Given the description of an element on the screen output the (x, y) to click on. 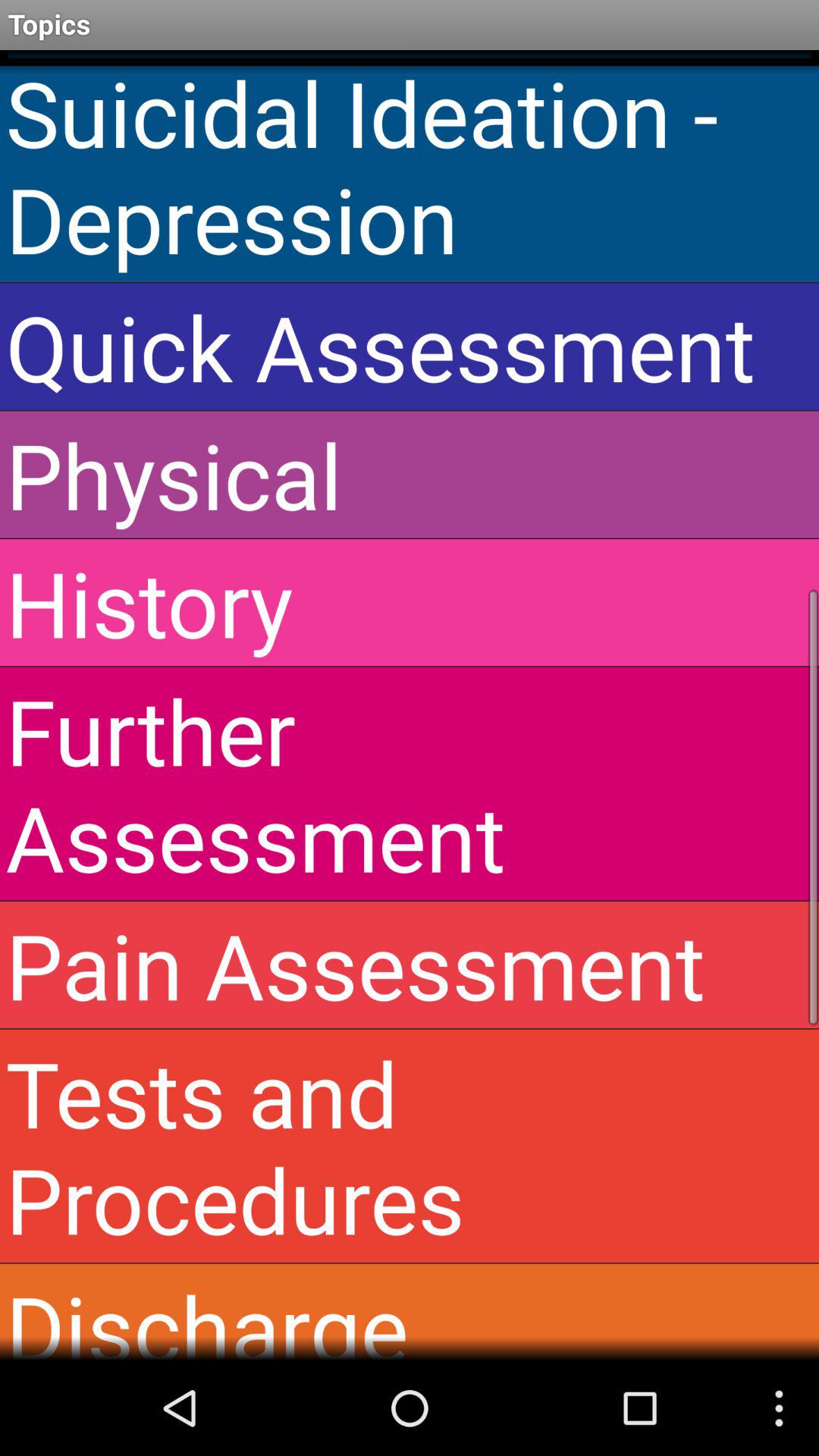
open item below the suicidal ideation - depression item (409, 346)
